Given the description of an element on the screen output the (x, y) to click on. 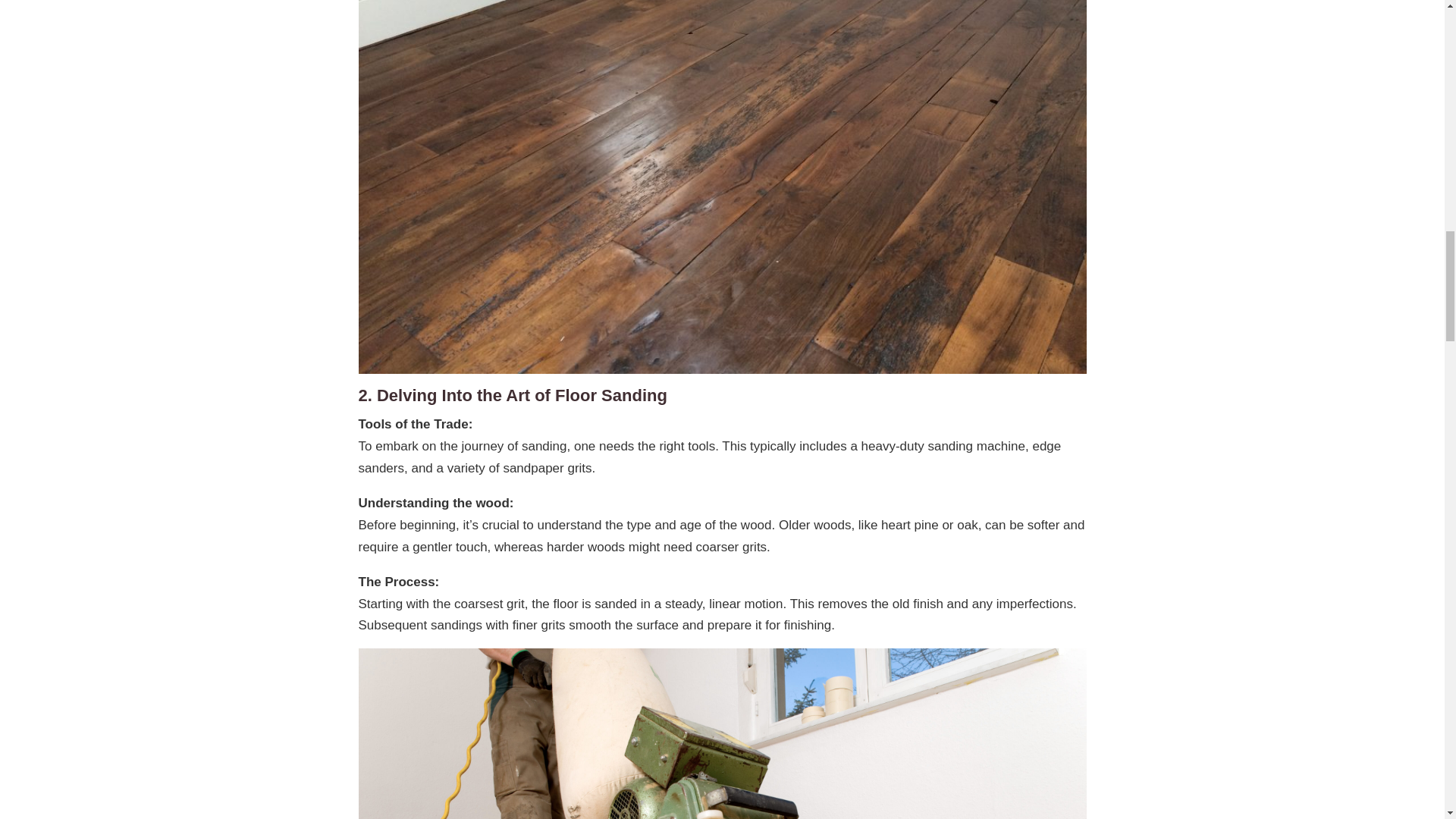
Worker,Renovating,A,Parquet,Floor (722, 733)
